Given the description of an element on the screen output the (x, y) to click on. 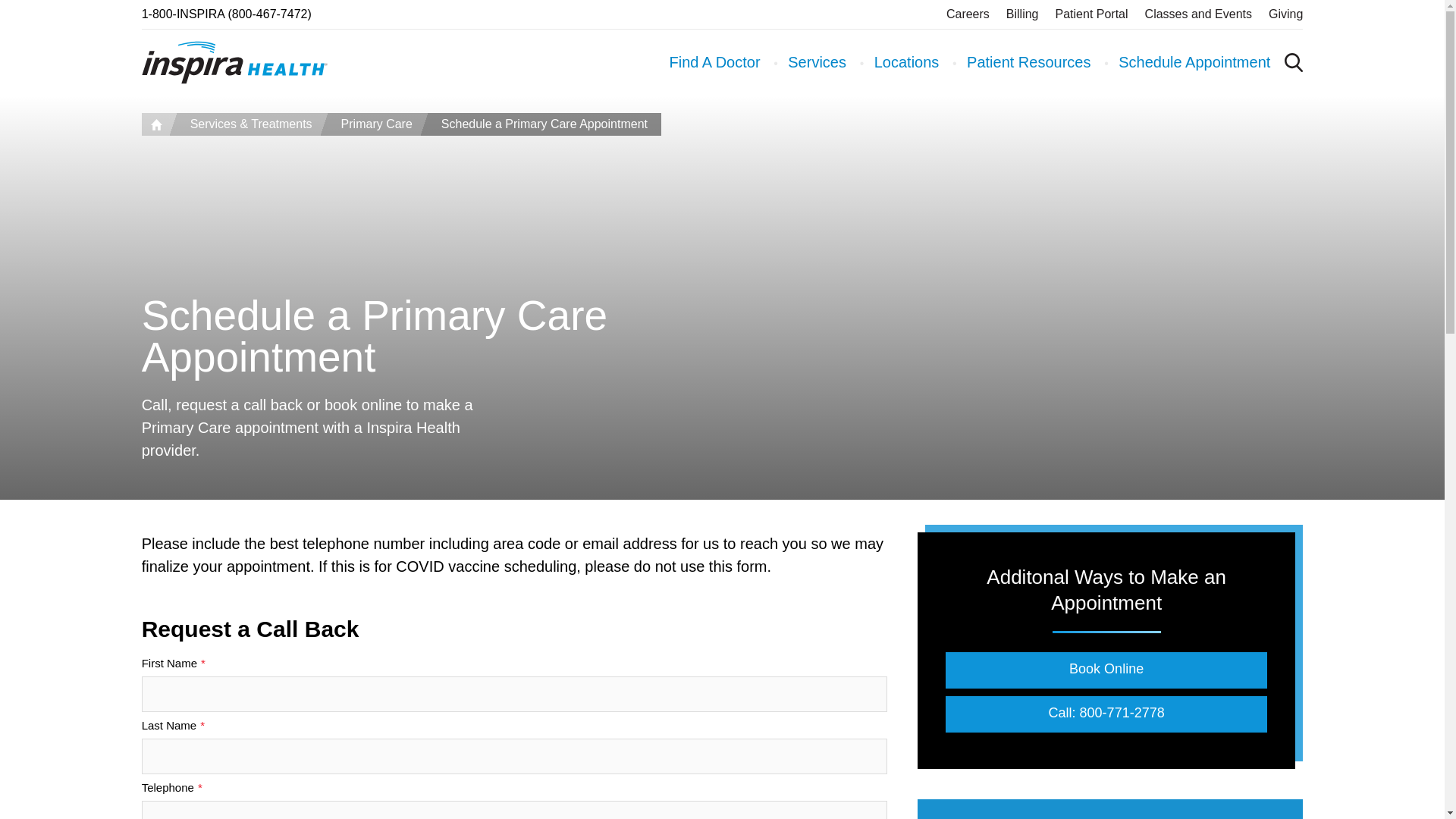
Find A Doctor (714, 62)
Schedule Appointment (1193, 62)
Locations (907, 62)
Call Inspira (226, 14)
Open the Search Overlay (1293, 62)
Services (816, 62)
Patient Resources (1028, 62)
Search (1214, 180)
Billing (1022, 13)
Giving (1285, 13)
Classes and Events (1198, 13)
Patient Portal (1091, 13)
Home (154, 124)
Call: 800-771-2778 (1105, 714)
Return to Homepage (234, 62)
